Given the description of an element on the screen output the (x, y) to click on. 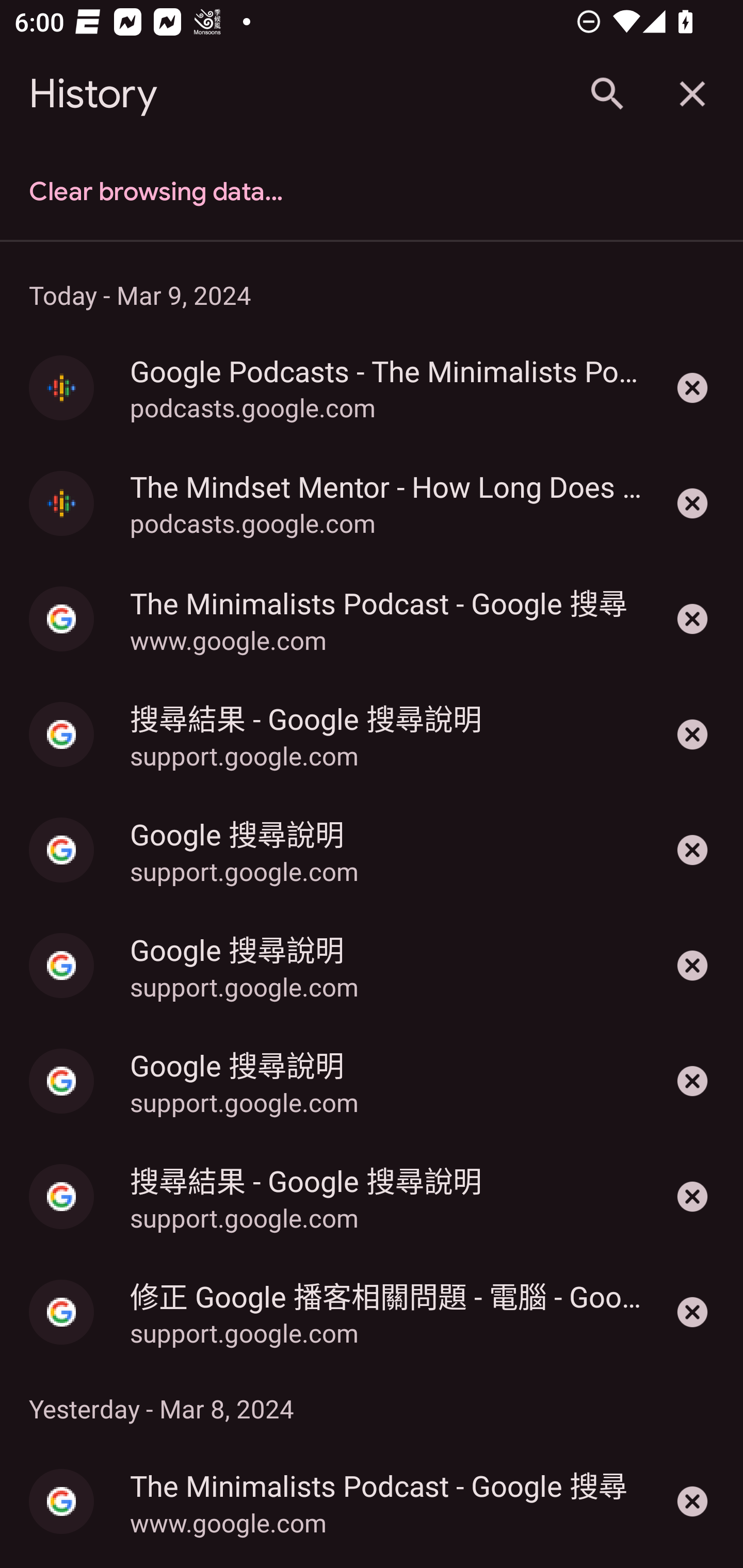
Search (605, 93)
Close (692, 93)
Clear browsing data… (371, 191)
Google Podcasts - The Minimalists Podcast Remove (692, 387)
The Minimalists Podcast - Google 搜尋 Remove (692, 619)
搜尋結果 - Google 搜尋說明 Remove (692, 734)
Google 搜尋說明 support.google.com Google 搜尋說明 Remove (371, 849)
Google 搜尋說明 Remove (692, 849)
Google 搜尋說明 support.google.com Google 搜尋說明 Remove (371, 965)
Google 搜尋說明 Remove (692, 965)
Google 搜尋說明 support.google.com Google 搜尋說明 Remove (371, 1080)
Google 搜尋說明 Remove (692, 1080)
搜尋結果 - Google 搜尋說明 Remove (692, 1196)
修正 Google 播客相關問題 - 電腦 - Google 搜尋說明 Remove (692, 1312)
The Minimalists Podcast - Google 搜尋 Remove (692, 1501)
